Given the description of an element on the screen output the (x, y) to click on. 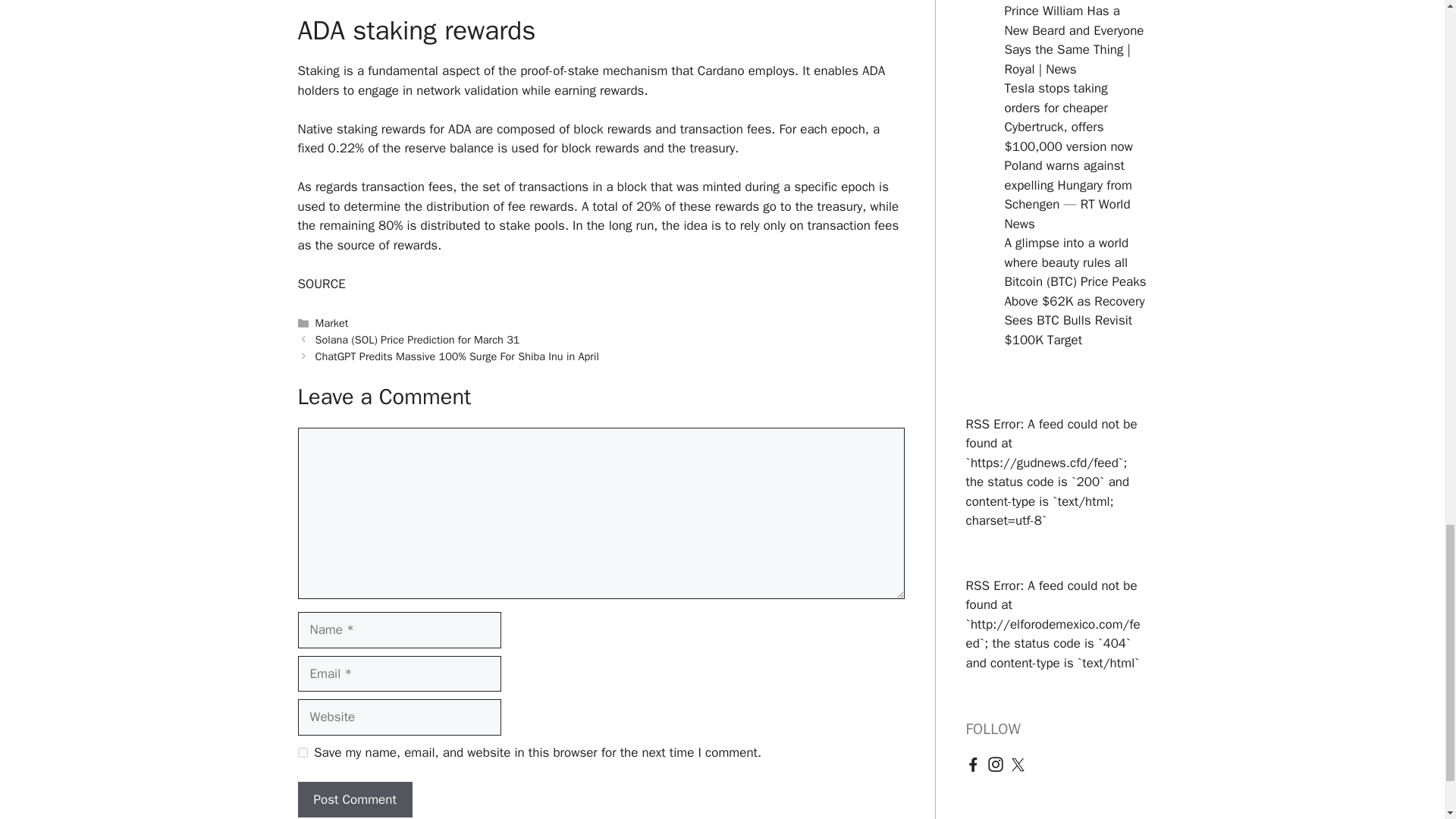
Post Comment (354, 800)
Post Comment (354, 800)
Market (332, 323)
SOURCE (321, 283)
yes (302, 752)
